Given the description of an element on the screen output the (x, y) to click on. 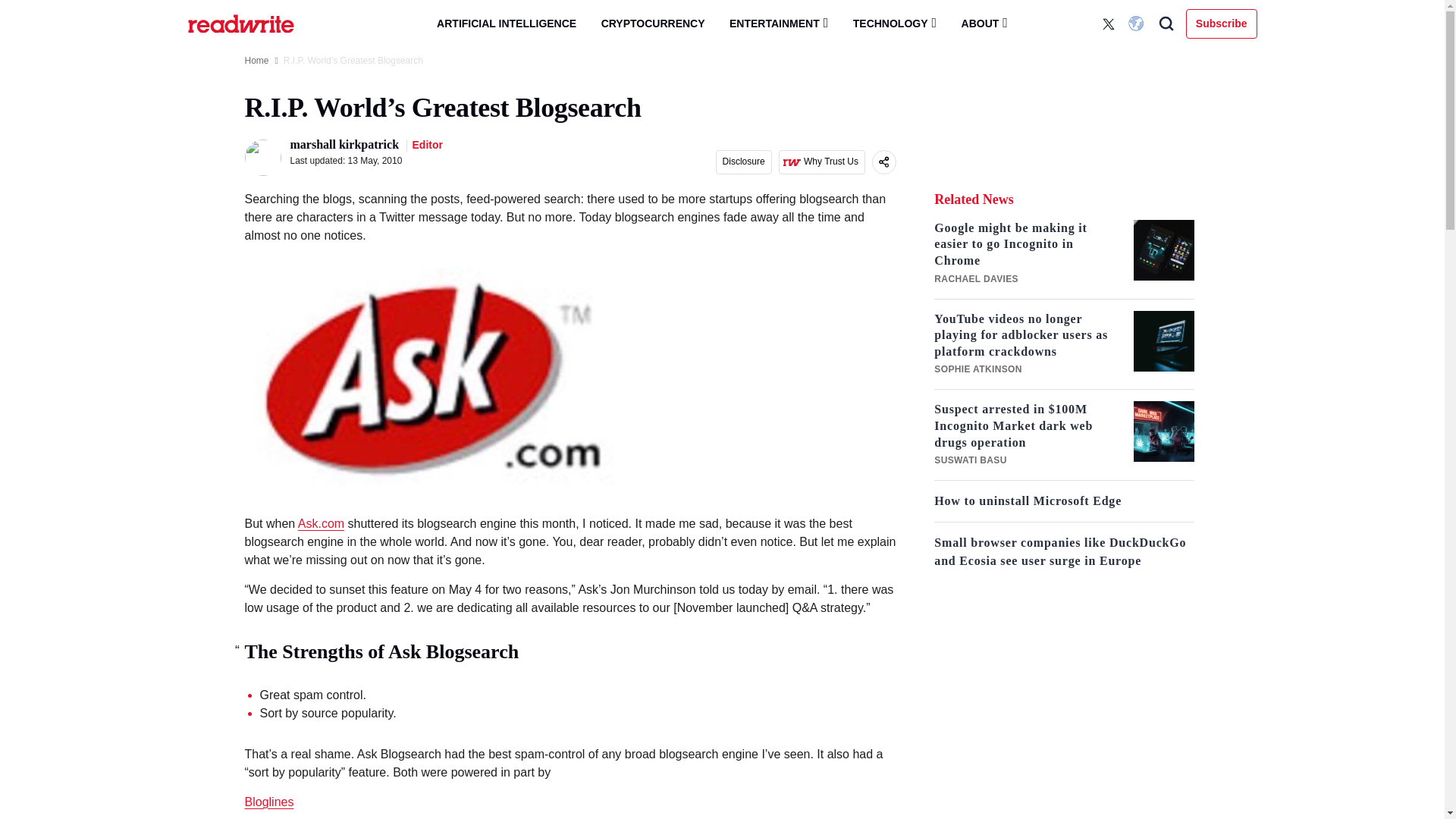
Subscribe (1221, 23)
CRYPTOCURRENCY (653, 23)
English (1137, 23)
ENTERTAINMENT (778, 23)
ARTIFICIAL INTELLIGENCE (506, 23)
TECHNOLOGY (895, 23)
Home (255, 60)
ABOUT (983, 23)
